Given the description of an element on the screen output the (x, y) to click on. 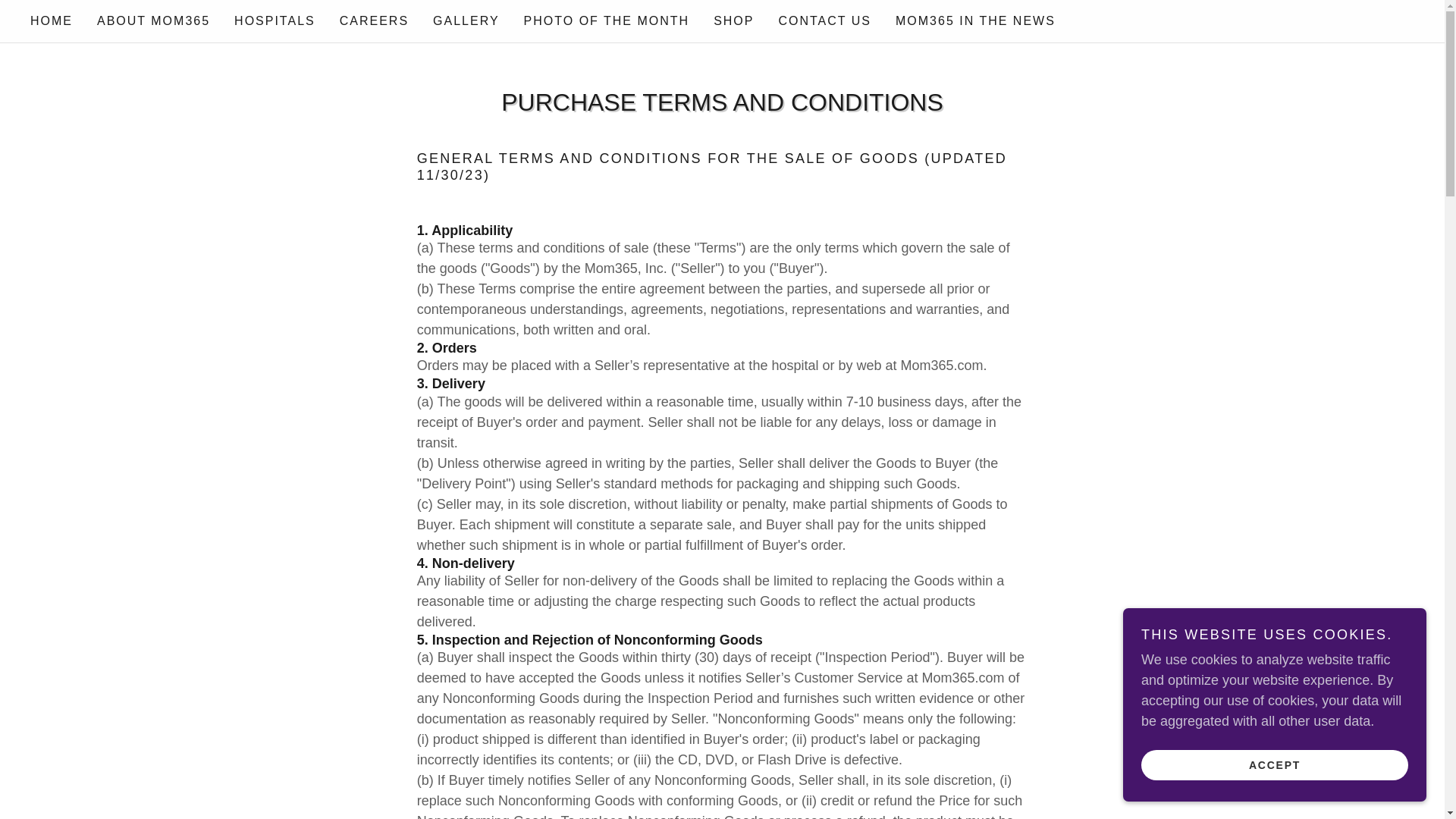
HOSPITALS (275, 21)
MOM365 IN THE NEWS (975, 21)
SHOP (733, 21)
CAREERS (373, 21)
PHOTO OF THE MONTH (606, 21)
CONTACT US (824, 21)
ACCEPT (1274, 764)
GALLERY (465, 21)
HOME (51, 21)
ABOUT MOM365 (153, 21)
